Given the description of an element on the screen output the (x, y) to click on. 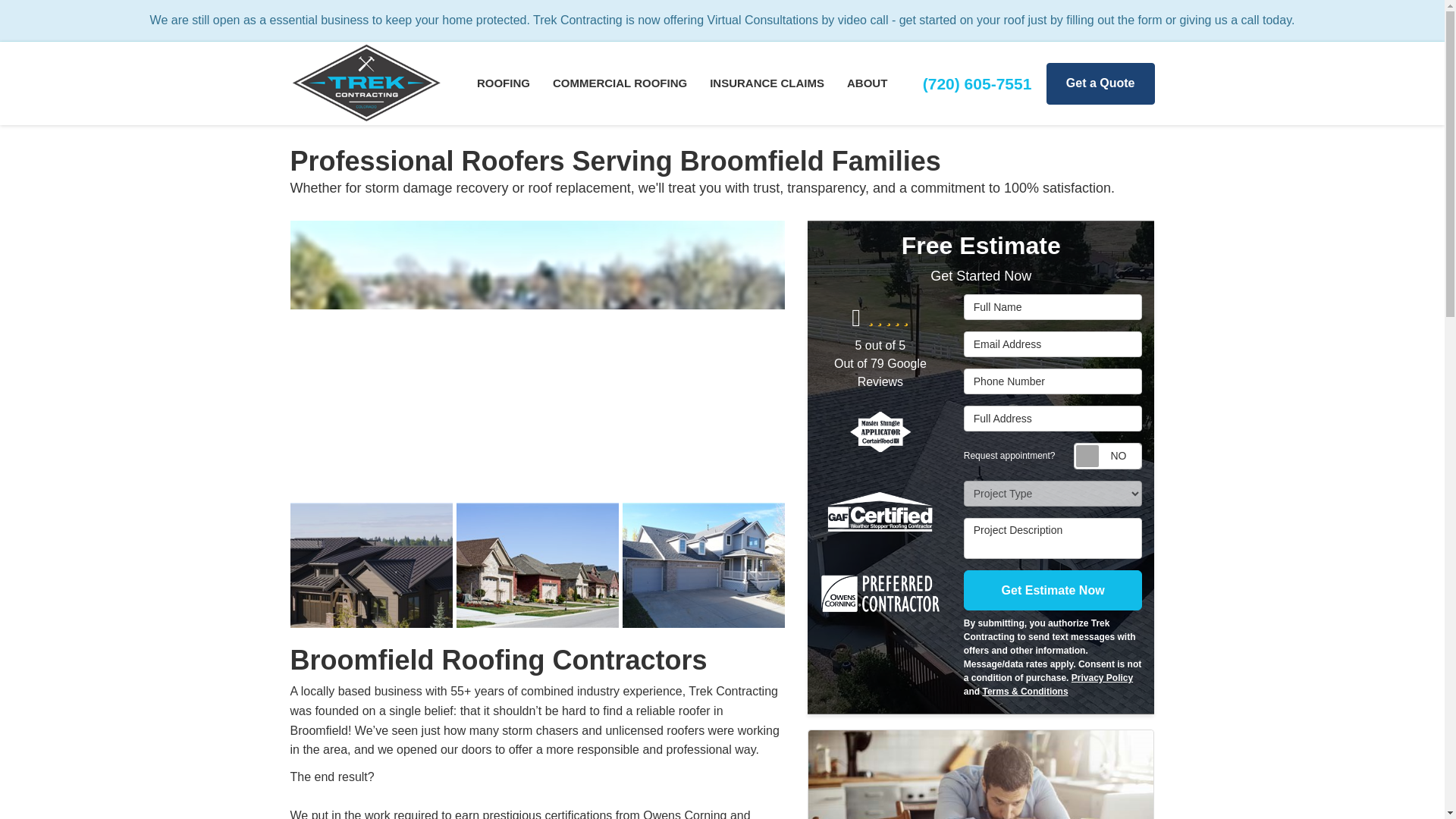
COMMERCIAL ROOFING (619, 83)
Get a Quote (1100, 83)
Get a Quote (1100, 83)
INSURANCE CLAIMS (766, 83)
ROOFING (503, 83)
